Given the description of an element on the screen output the (x, y) to click on. 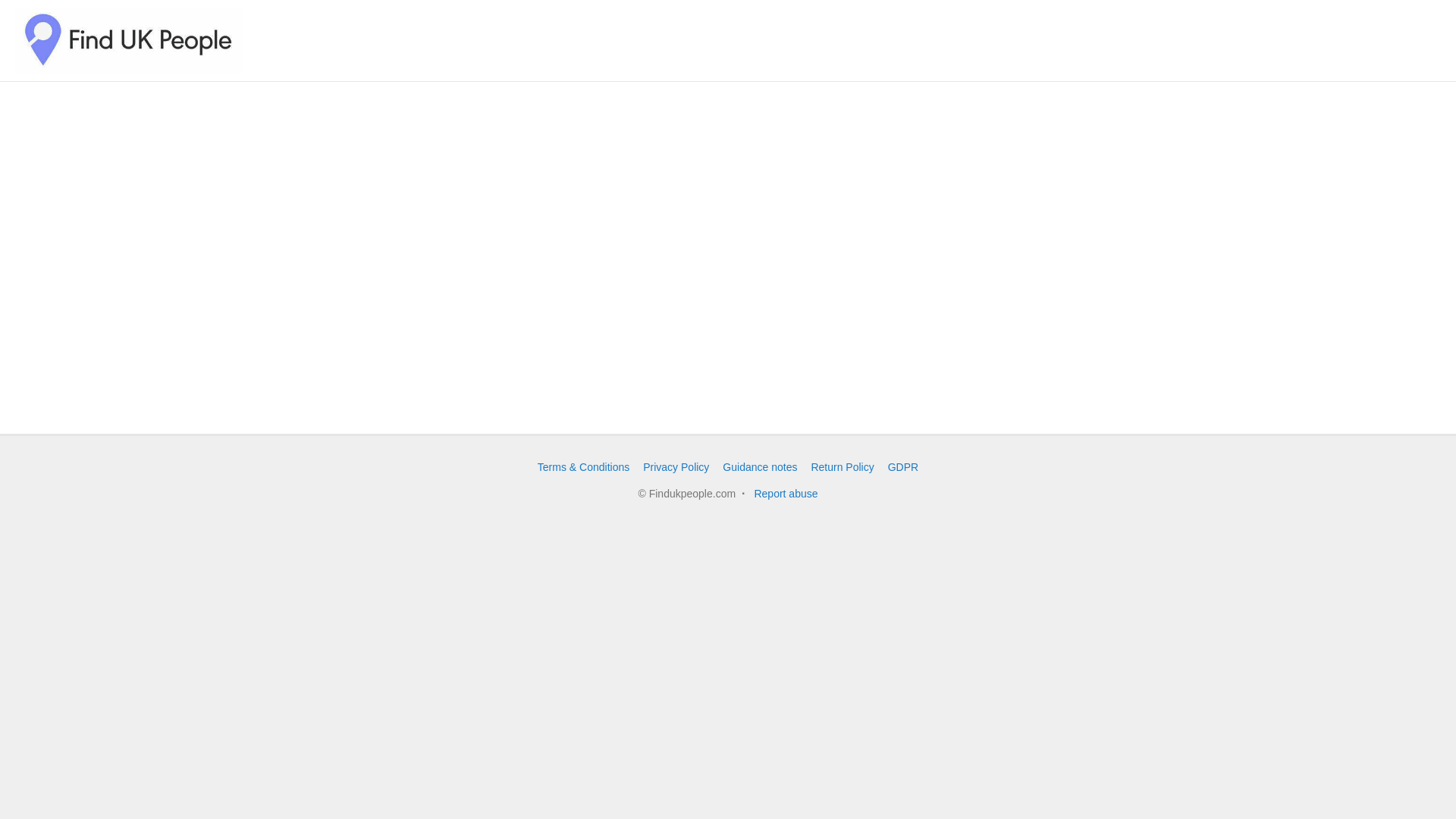
Privacy Policy (676, 467)
Report abuse (785, 493)
Guidance notes (759, 467)
GDPR (903, 467)
Return Policy (841, 467)
